Given the description of an element on the screen output the (x, y) to click on. 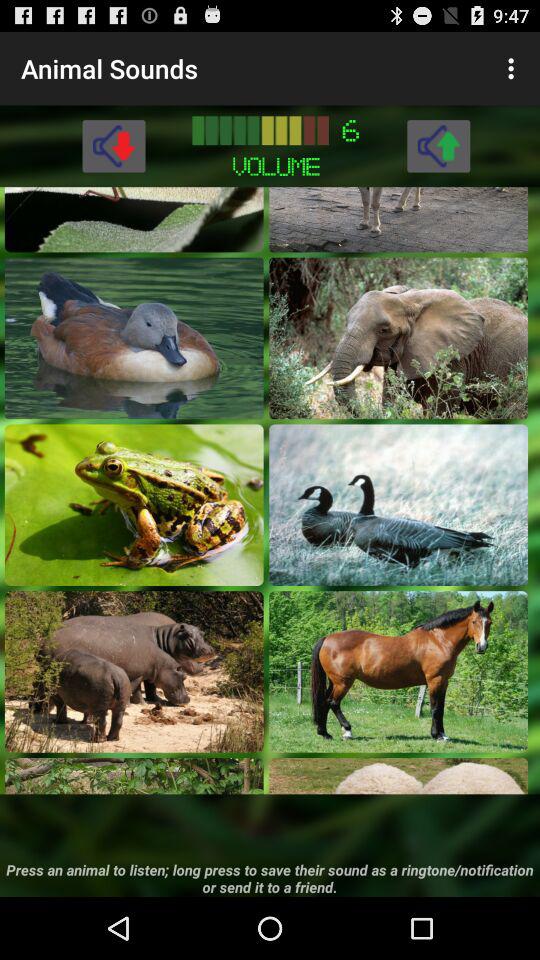
lower volume (113, 145)
